Given the description of an element on the screen output the (x, y) to click on. 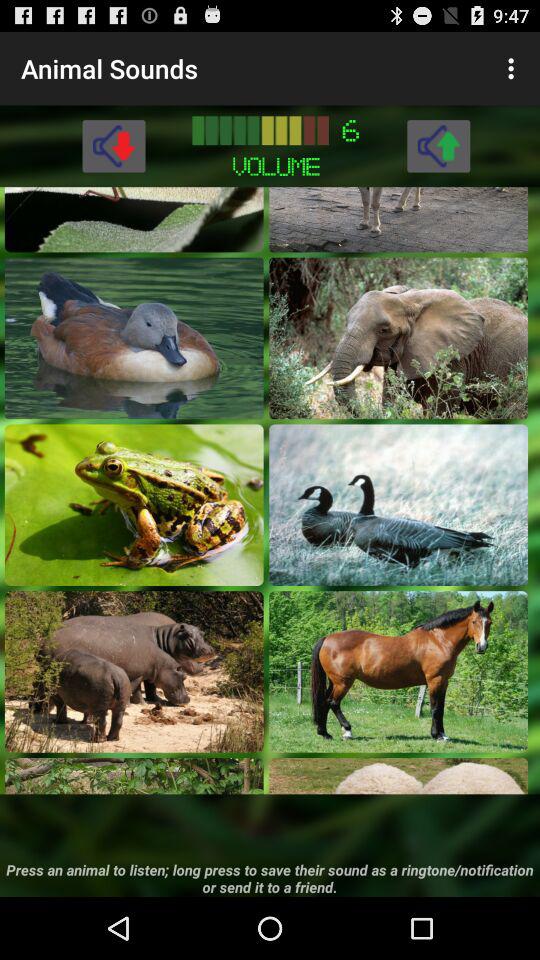
lower volume (113, 145)
